Given the description of an element on the screen output the (x, y) to click on. 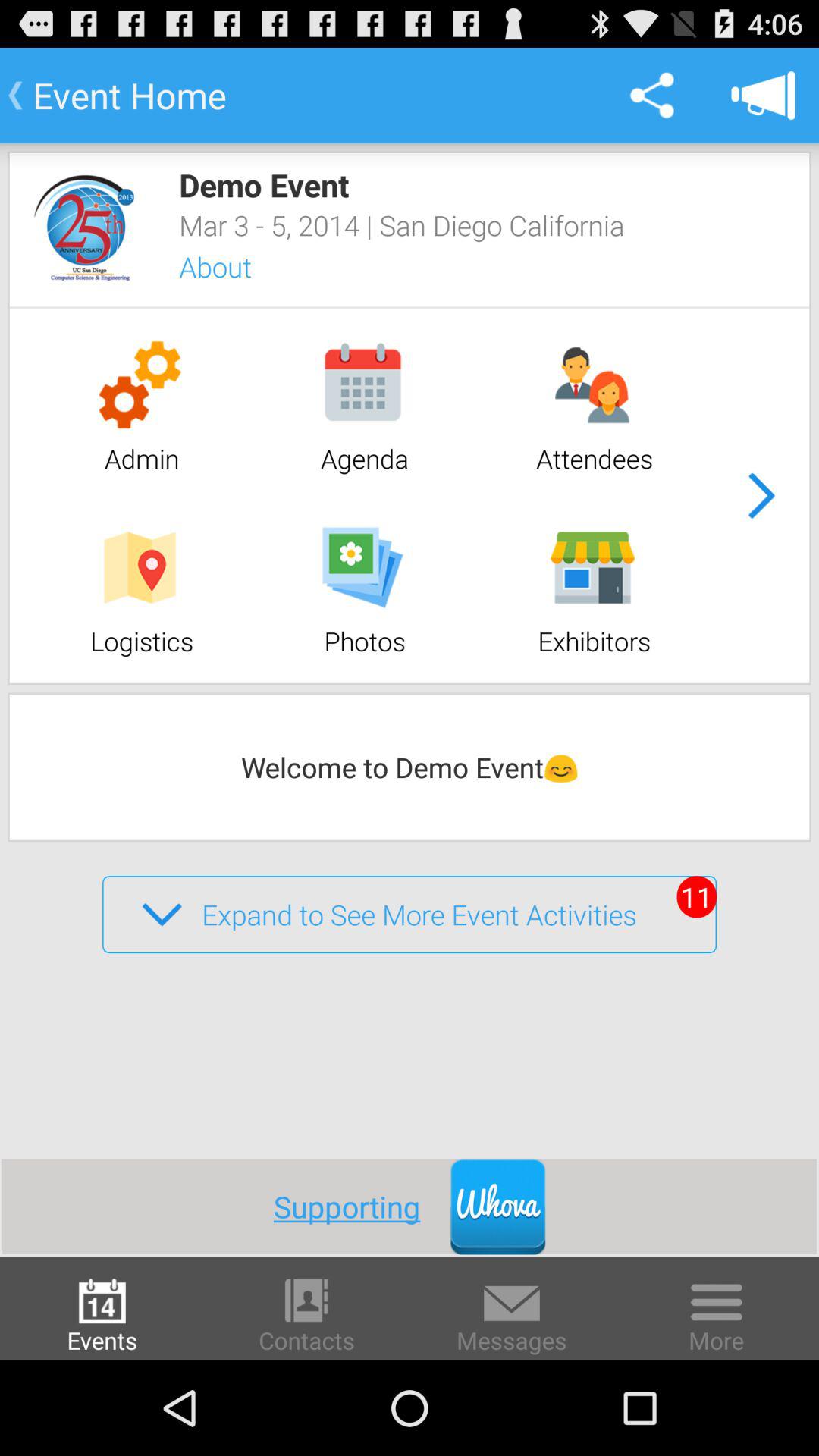
go to next page (761, 495)
